Given the description of an element on the screen output the (x, y) to click on. 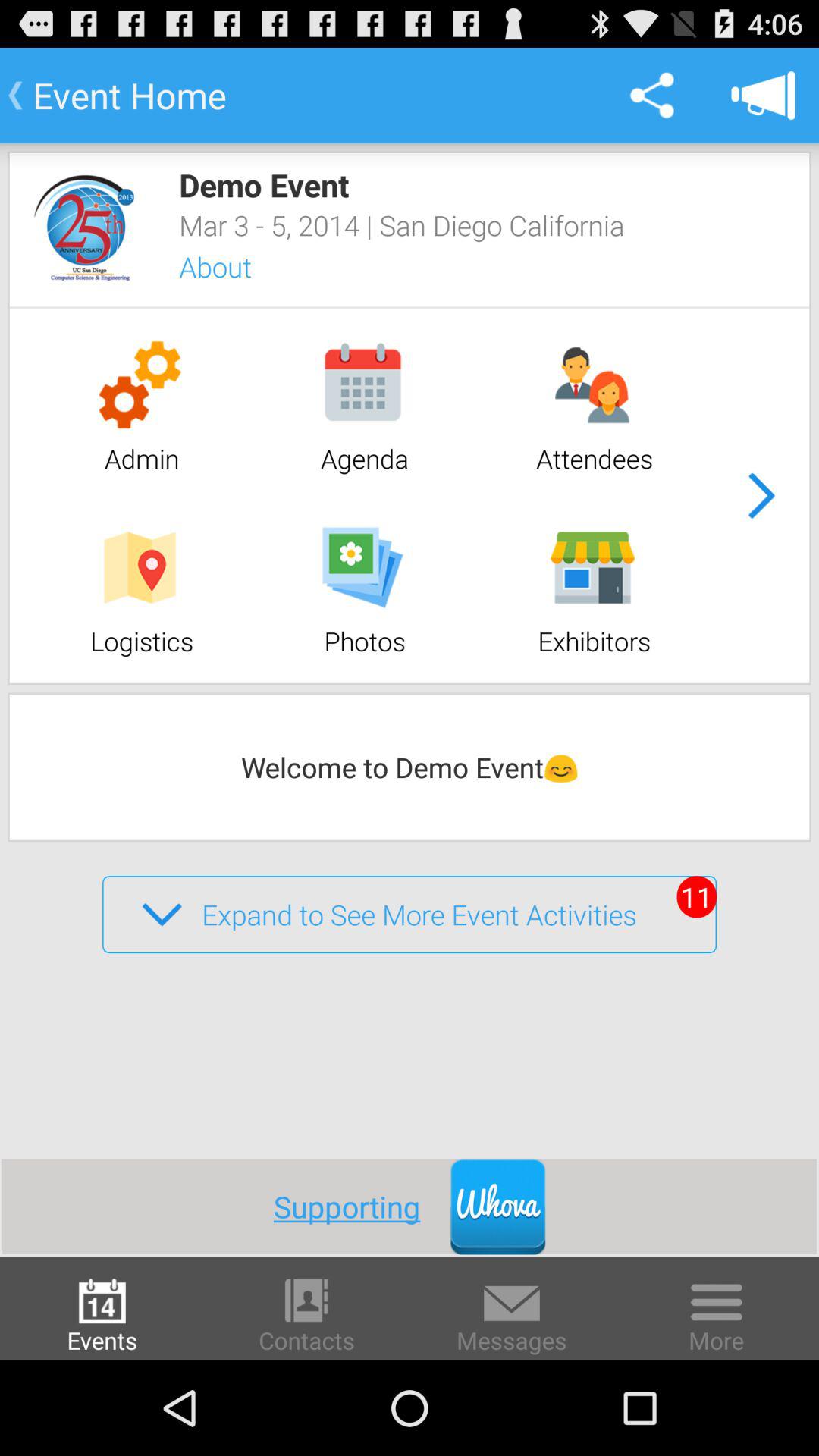
go to next page (761, 495)
